Given the description of an element on the screen output the (x, y) to click on. 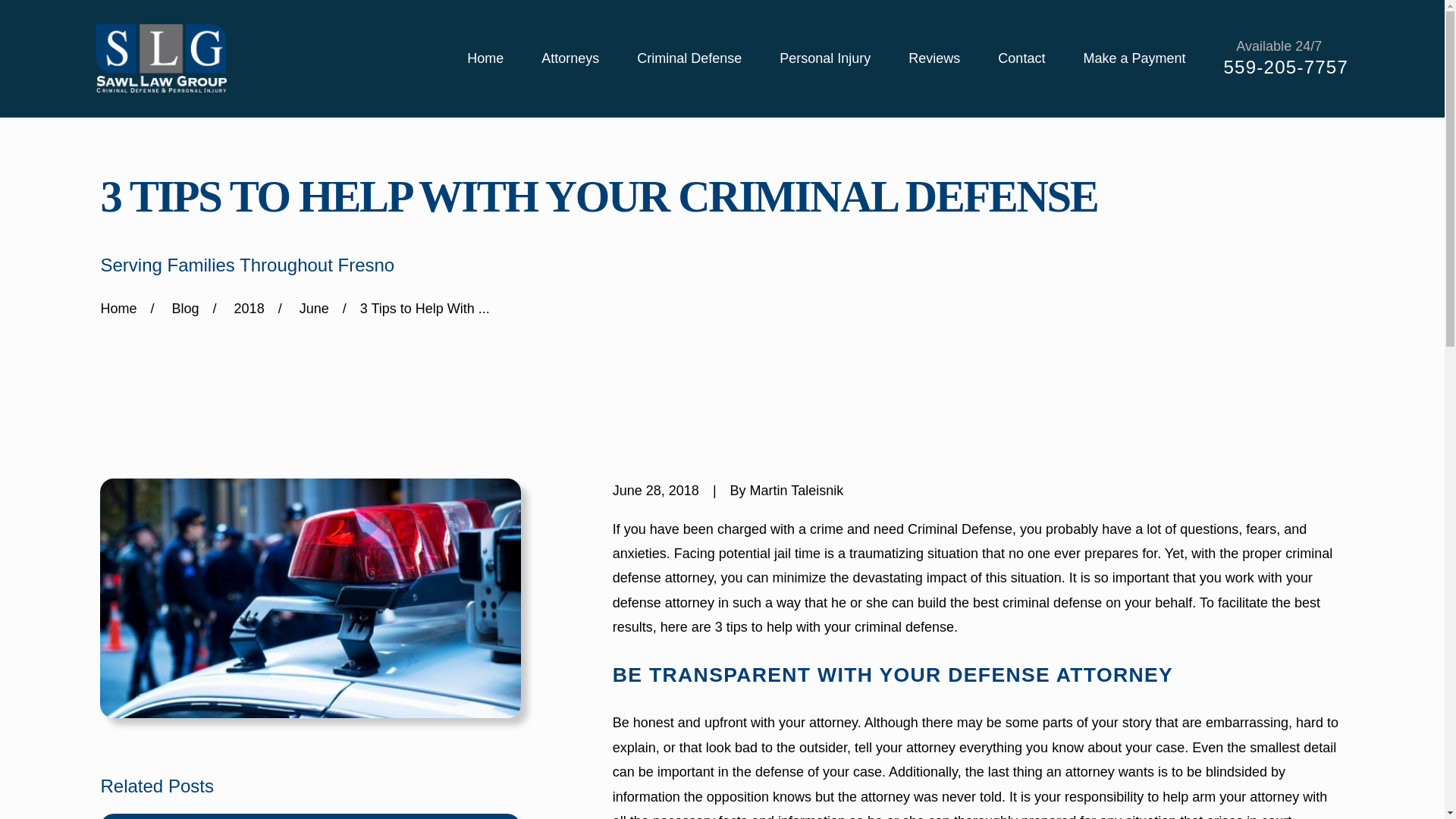
Personal Injury (824, 58)
Home (161, 58)
Go Home (118, 308)
Attorneys (569, 58)
Criminal Defense (689, 58)
